Given the description of an element on the screen output the (x, y) to click on. 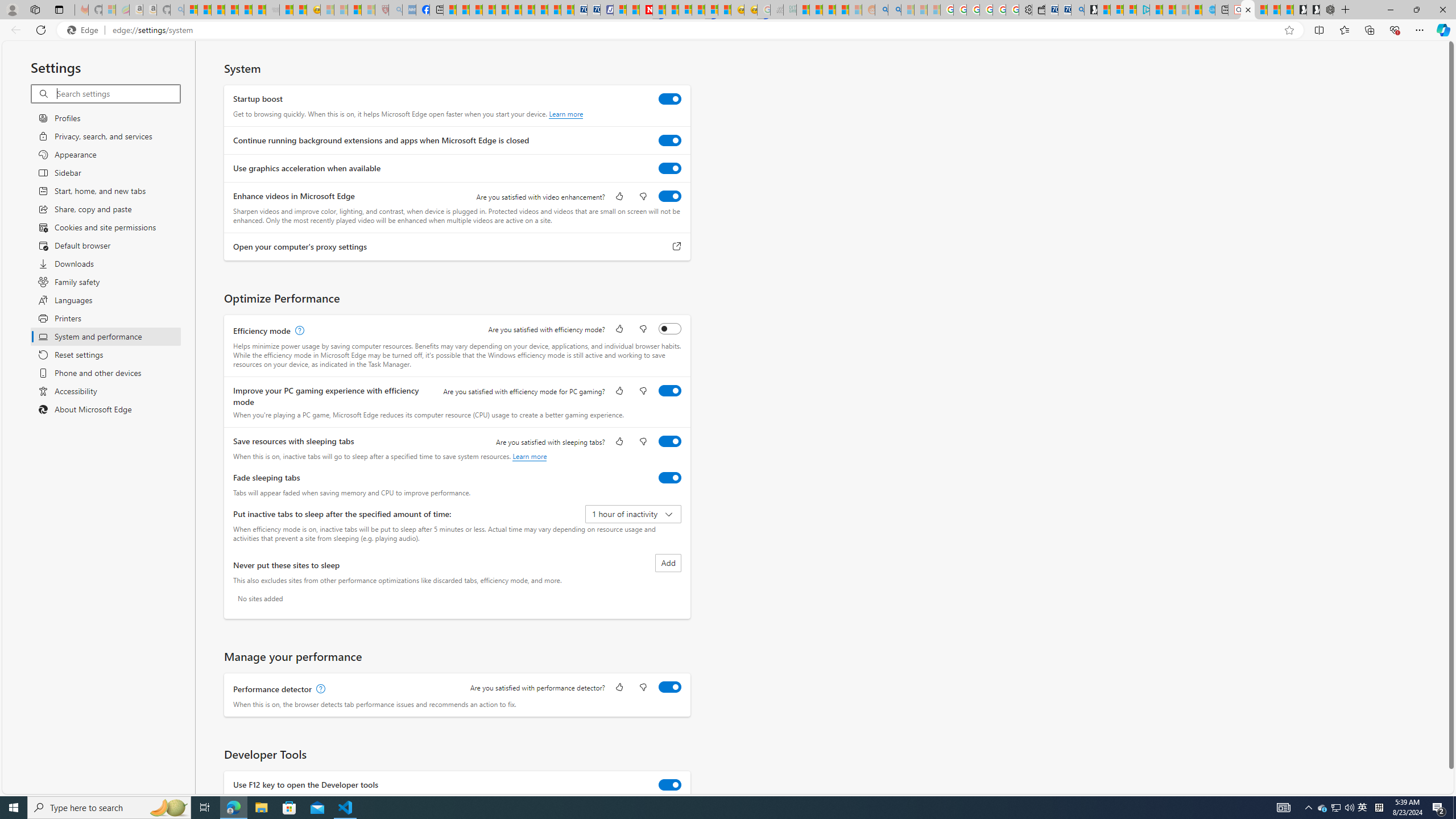
Performance detector, learn more (319, 688)
14 Common Myths Debunked By Scientific Facts (672, 9)
